Given the description of an element on the screen output the (x, y) to click on. 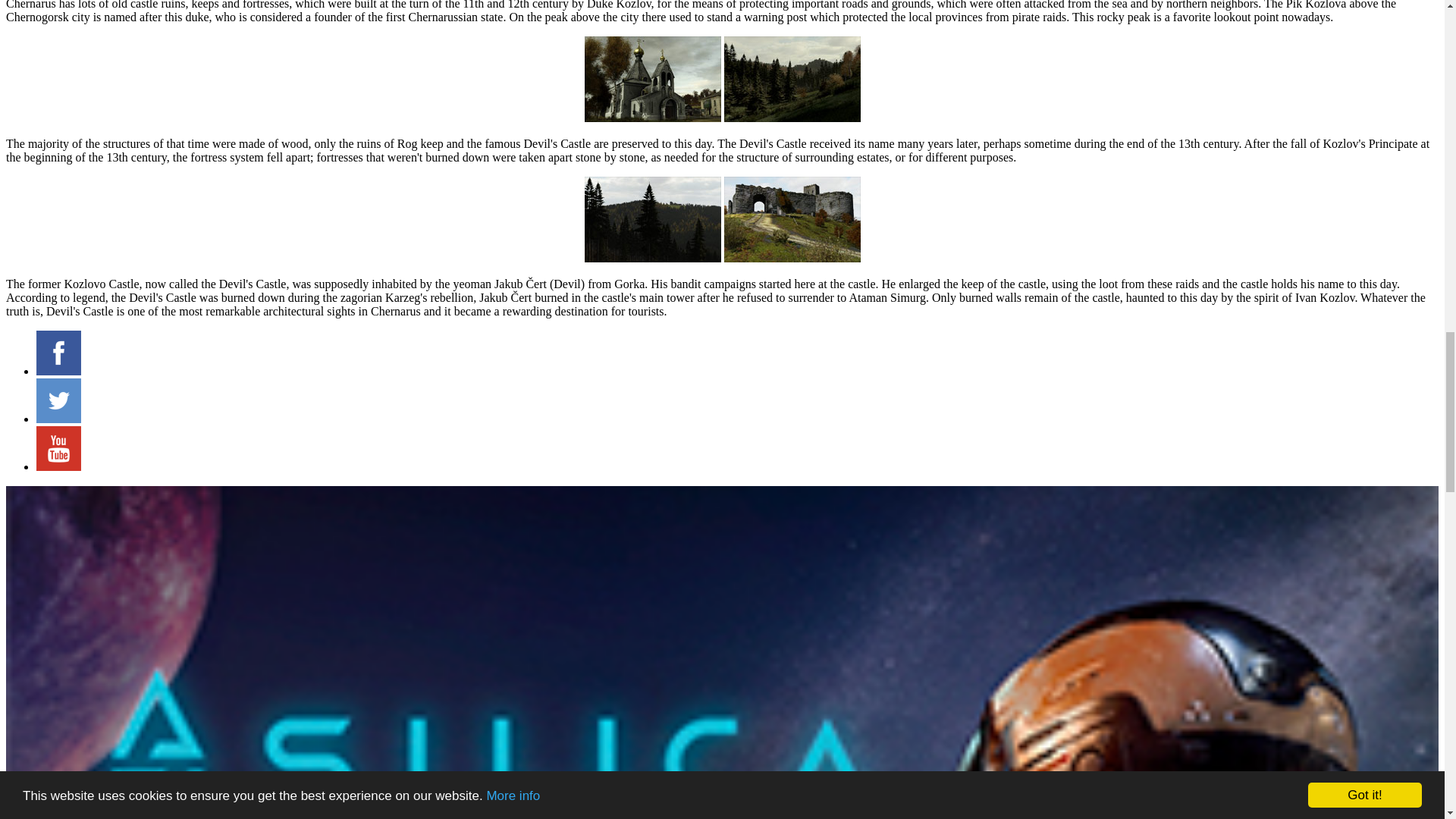
Devil's Castle Gate (791, 257)
Church of St. John Chrysostom, Novy Sobor (651, 117)
Devil's Castle from Gvozdno (651, 257)
In the forests below Zub castle ruin (791, 117)
